Given the description of an element on the screen output the (x, y) to click on. 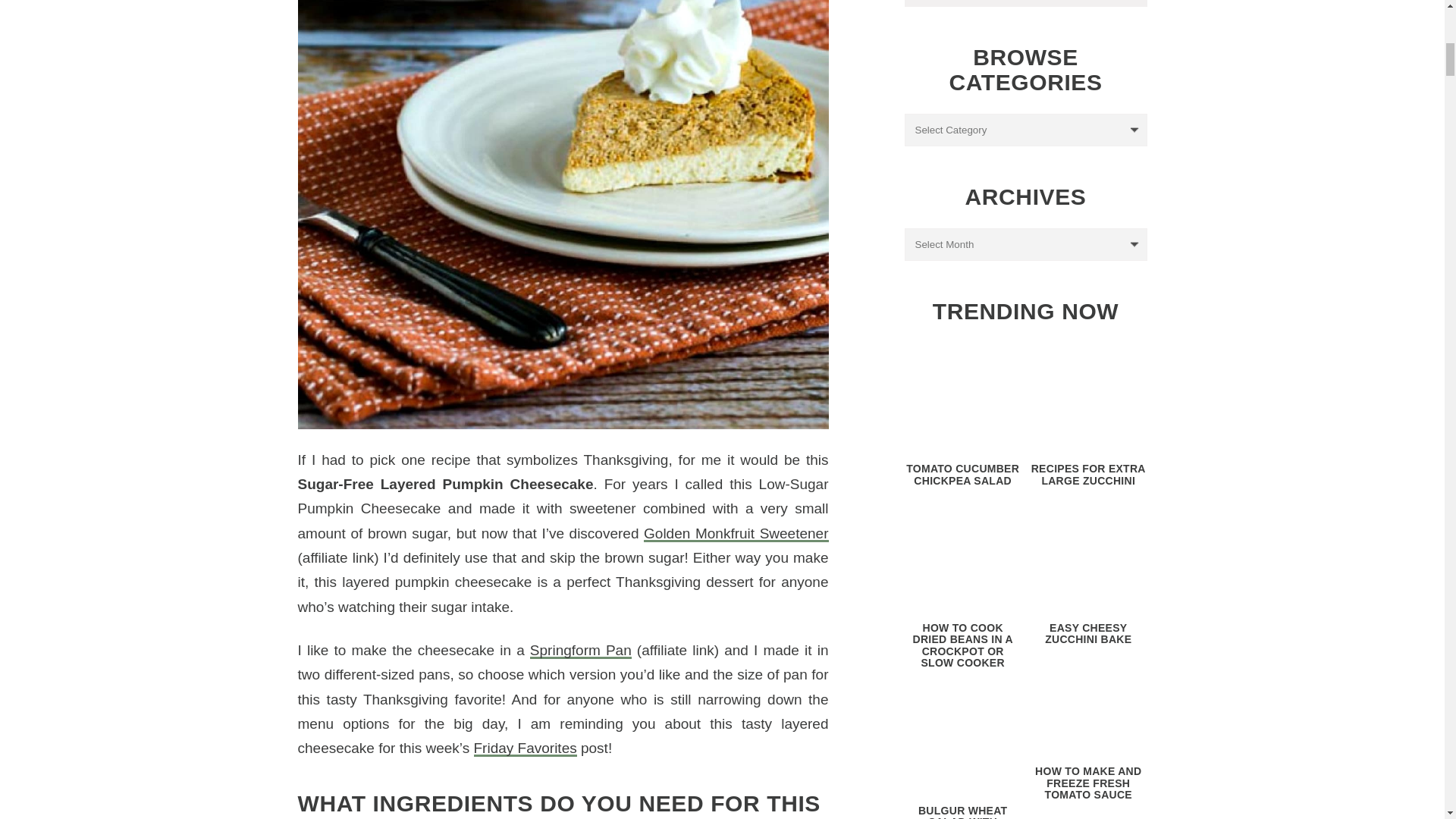
How to Cook Dried Beans in a Crockpot or Slow Cooker (963, 560)
Tomato Cucumber Chickpea Salad (963, 401)
Recipes for Extra Large Zucchini (1088, 401)
Easy Cheesy Zucchini Bake (1088, 560)
